Given the description of an element on the screen output the (x, y) to click on. 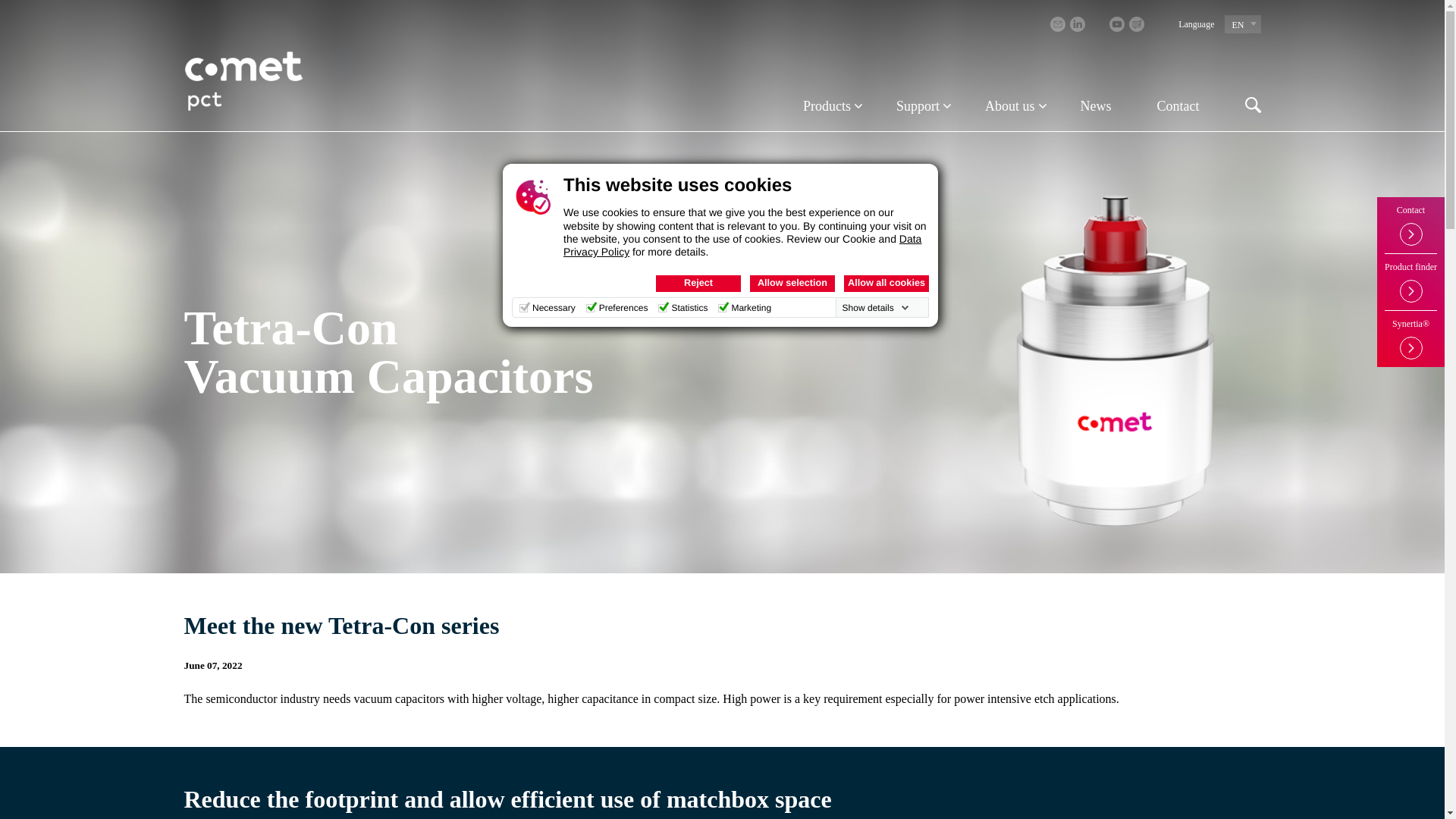
Allow all cookies (886, 283)
Allow selection (791, 283)
Data Privacy Policy (742, 244)
Reject (698, 283)
Show details (876, 307)
